Given the description of an element on the screen output the (x, y) to click on. 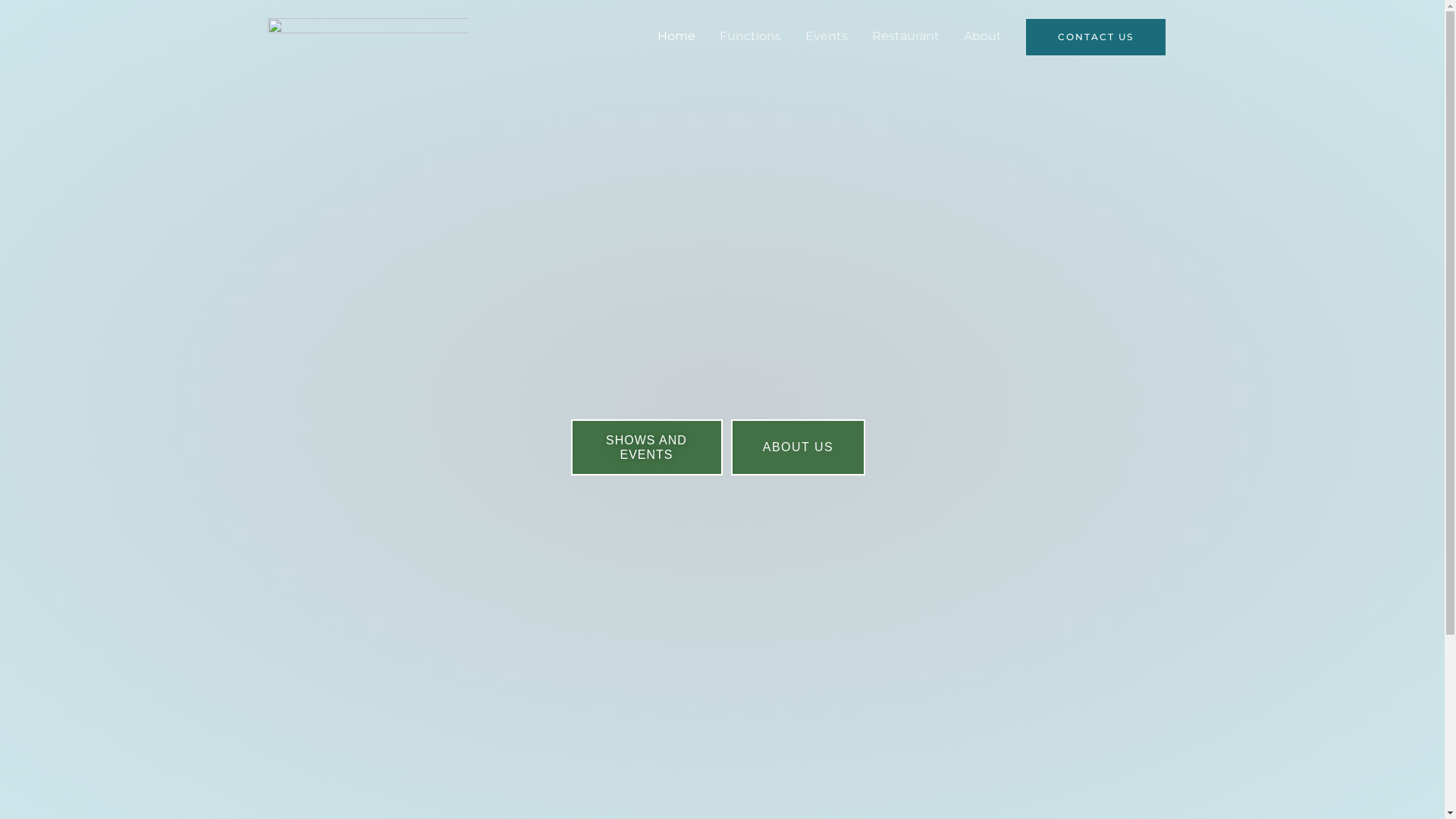
Home Element type: text (675, 36)
ABOUT US Element type: text (798, 447)
CONTACT US Element type: text (1094, 36)
SHOWS AND EVENTS Element type: text (645, 447)
Restaurant Element type: text (905, 36)
Functions Element type: text (749, 36)
About Element type: text (981, 36)
Events Element type: text (826, 36)
